Given the description of an element on the screen output the (x, y) to click on. 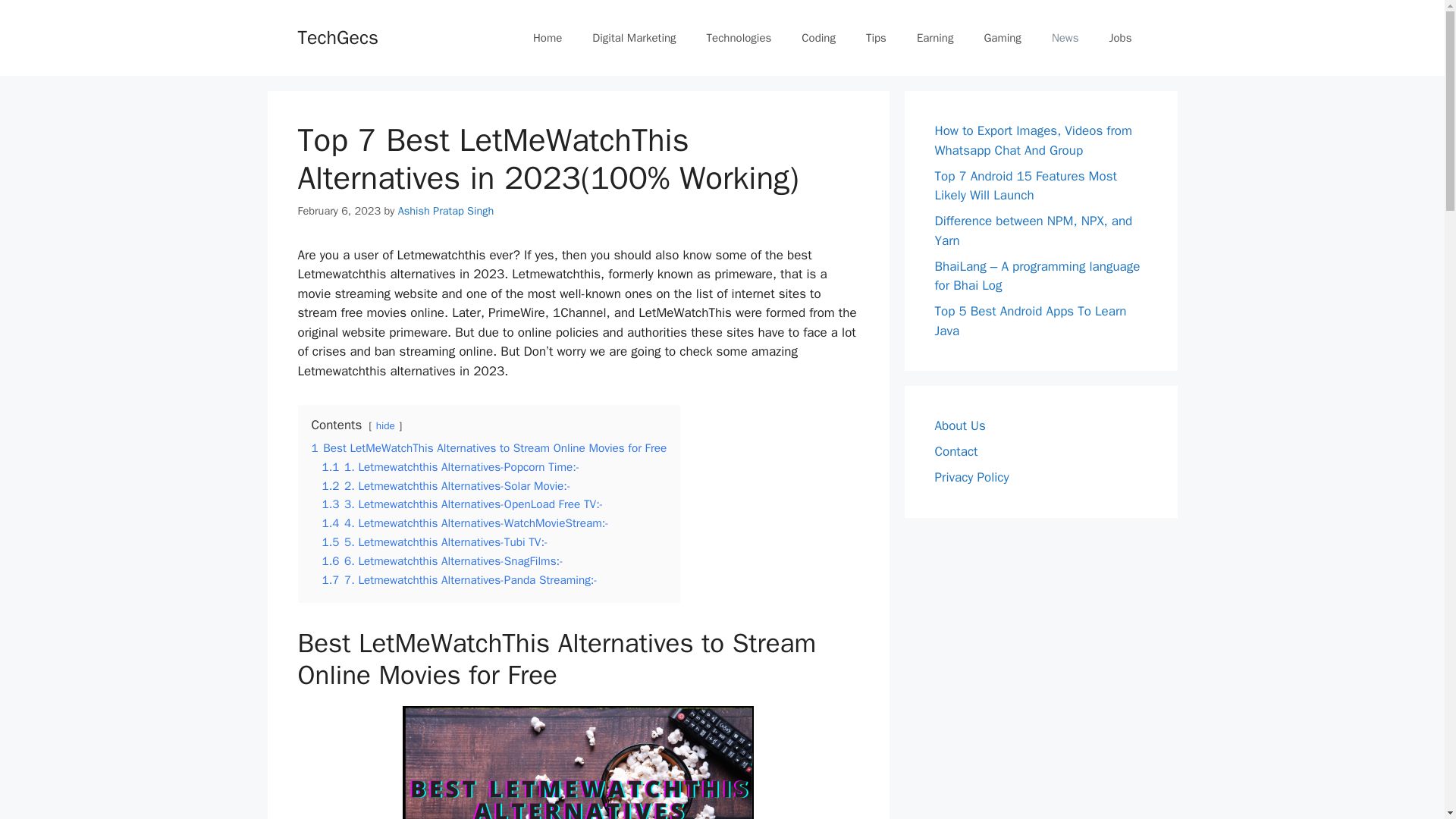
1.4 4. Letmewatchthis Alternatives-WatchMovieStream:- (464, 522)
Difference between NPM, NPX, and Yarn (1033, 230)
Contact (955, 451)
Privacy Policy (971, 477)
Earning (935, 37)
View all posts by Ashish Pratap Singh (446, 210)
Top 7 Android 15 Features Most Likely Will Launch (1025, 185)
Home (547, 37)
Tips (875, 37)
1.1 1. Letmewatchthis Alternatives-Popcorn Time:- (450, 467)
Coding (818, 37)
Ashish Pratap Singh (446, 210)
1.7 7. Letmewatchthis Alternatives-Panda Streaming:- (458, 580)
TechGecs (337, 37)
